Given the description of an element on the screen output the (x, y) to click on. 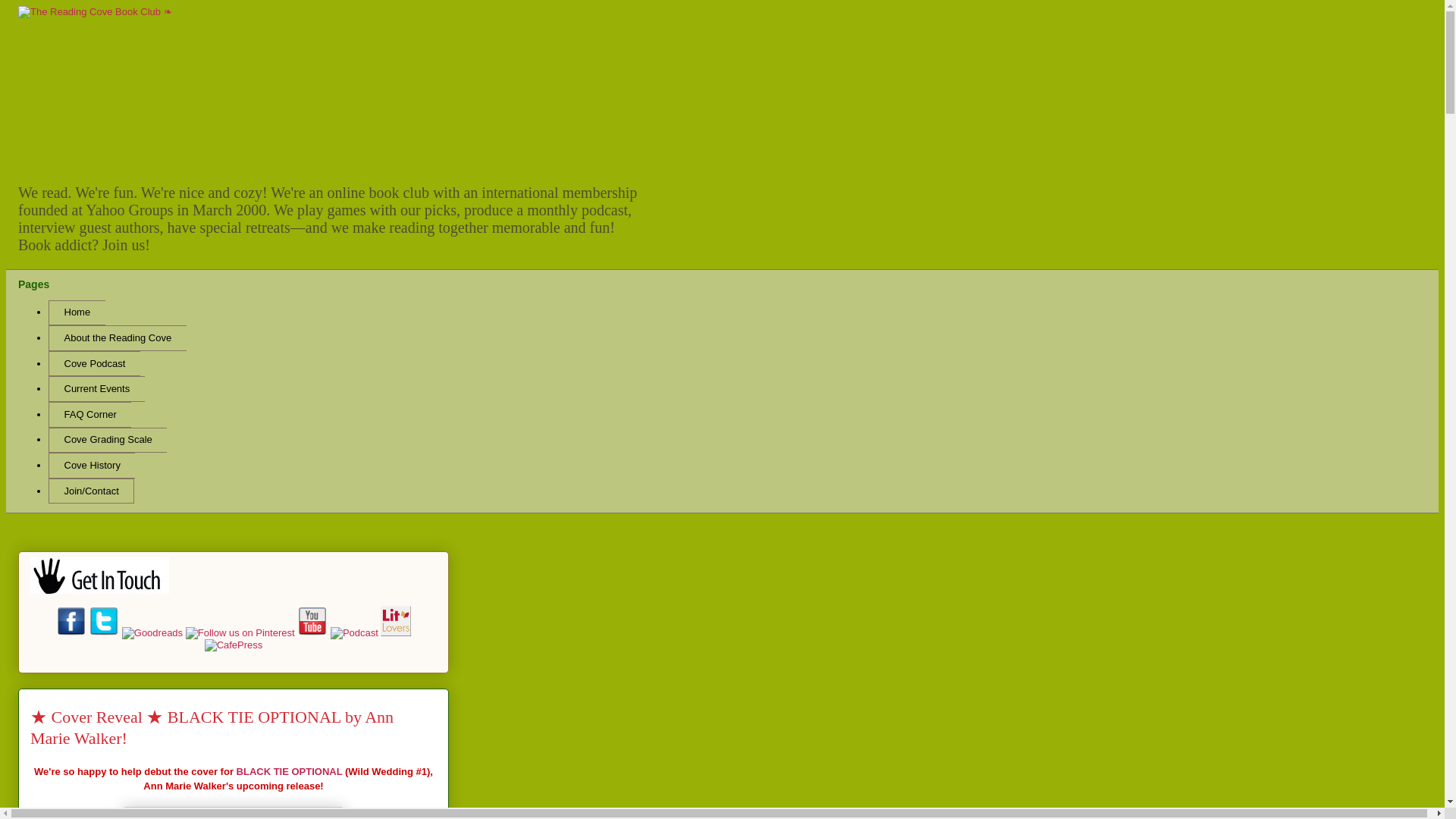
Follow us on Twitter! (105, 632)
LitLovers Interview (395, 632)
Subscribe to our YouTube Channel! (313, 632)
On Facebook (72, 632)
Home (76, 312)
Cool Cove Items! (234, 644)
About the Reading Cove (117, 338)
BLACK TIE OPTIONAL (288, 771)
On Goodreads (154, 632)
FAQ Corner (89, 414)
On Pinterest (240, 632)
Cove Podcast (93, 363)
Follow our Podcast! (355, 632)
Current Events (96, 388)
Cove Grading Scale (107, 440)
